Given the description of an element on the screen output the (x, y) to click on. 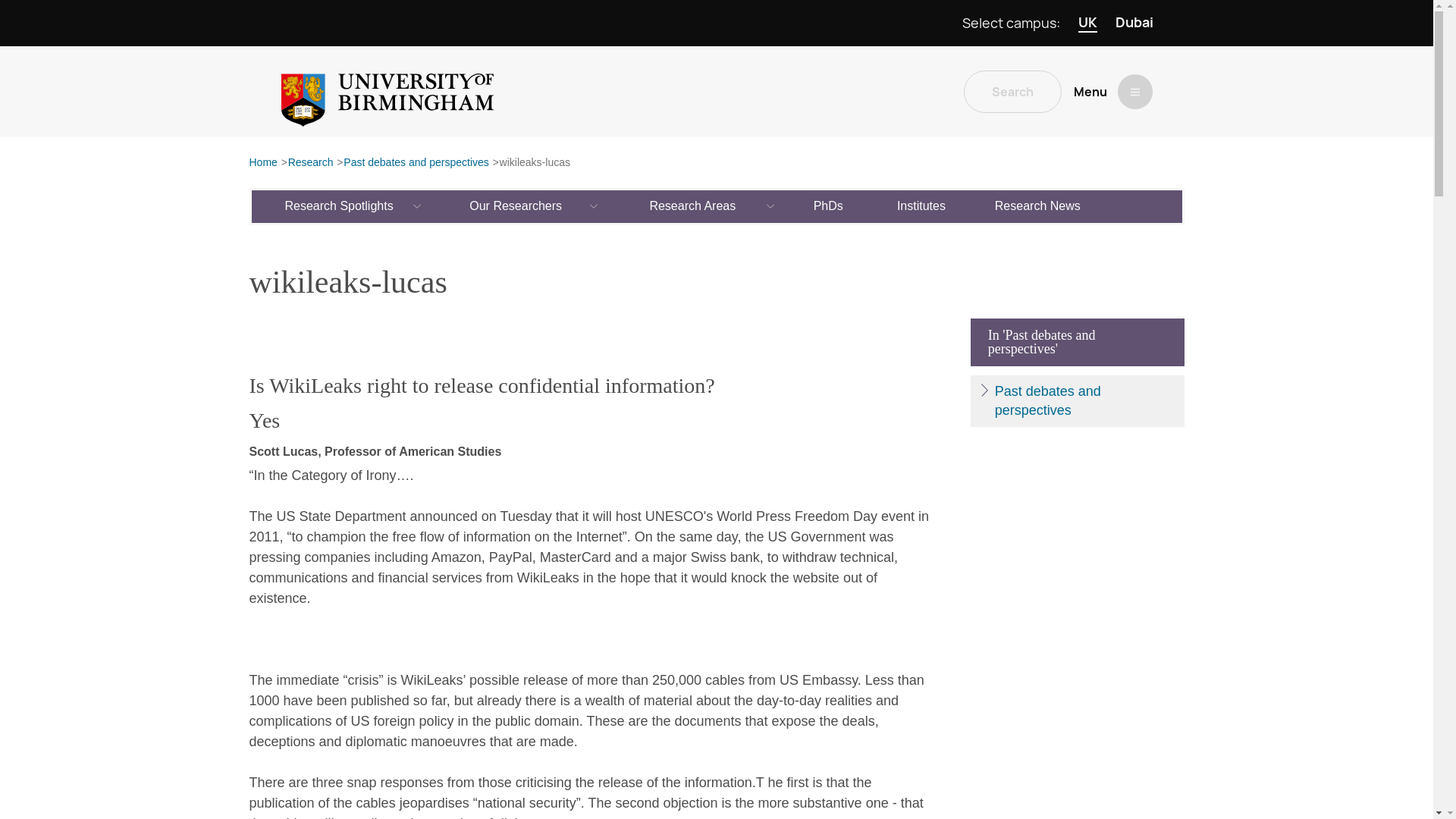
Research (310, 163)
Research Areas (693, 205)
Search (1012, 91)
Home (262, 163)
Dubai (1134, 23)
Past debates and perspectives (415, 163)
wikileaks-lucas (534, 163)
Research Spotlights (339, 205)
UK (1087, 23)
Our Researchers (516, 205)
